Given the description of an element on the screen output the (x, y) to click on. 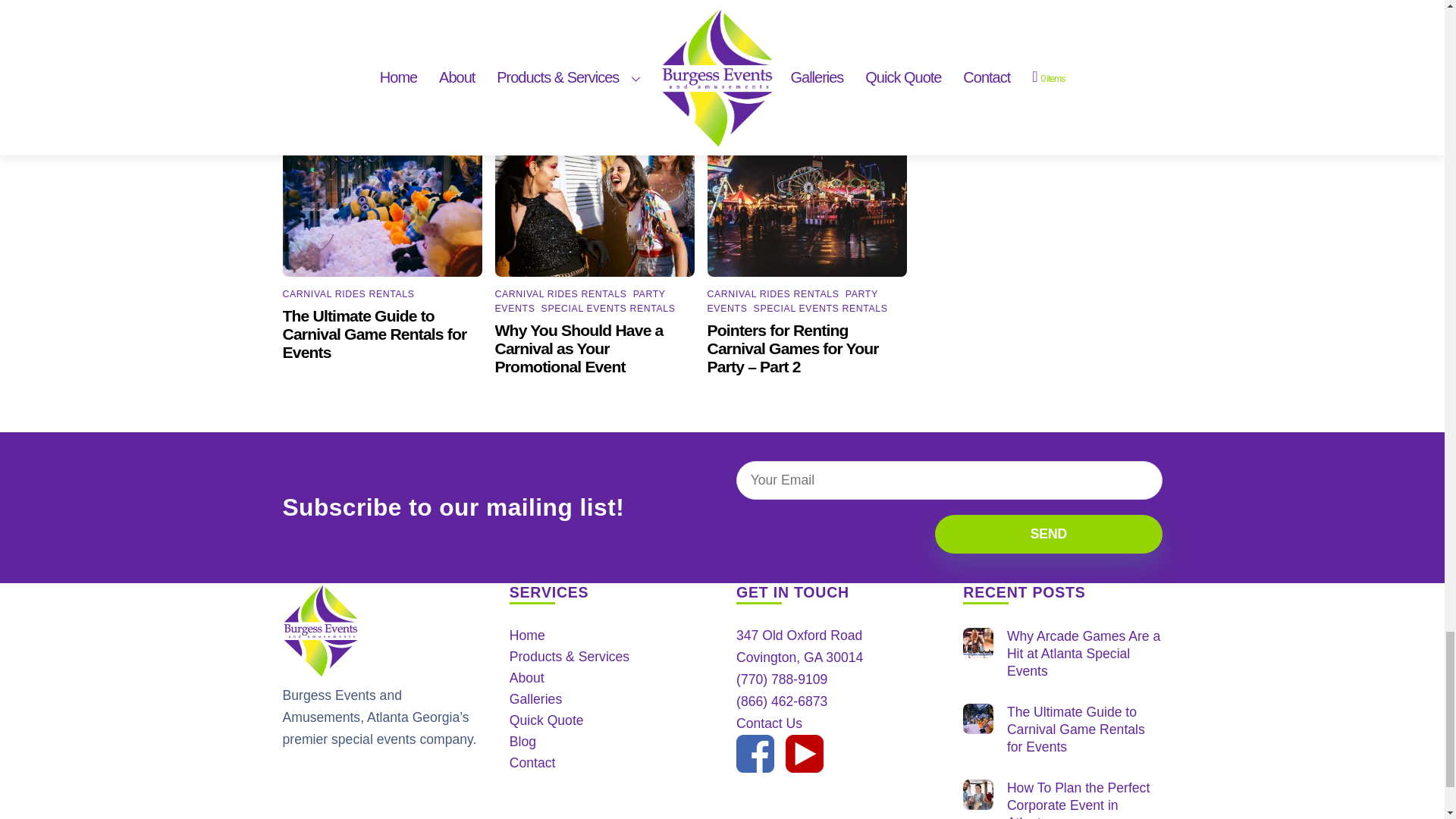
natalia-blauth-Y7G27hhg15U-unsplash (595, 192)
Corporate Event (977, 794)
Arcade Games (977, 643)
Carnival Game (381, 192)
Send (1047, 534)
Carnival Game (977, 718)
devon-rogers-rSJkrxTI1vQ-unsplash (807, 192)
